Given the description of an element on the screen output the (x, y) to click on. 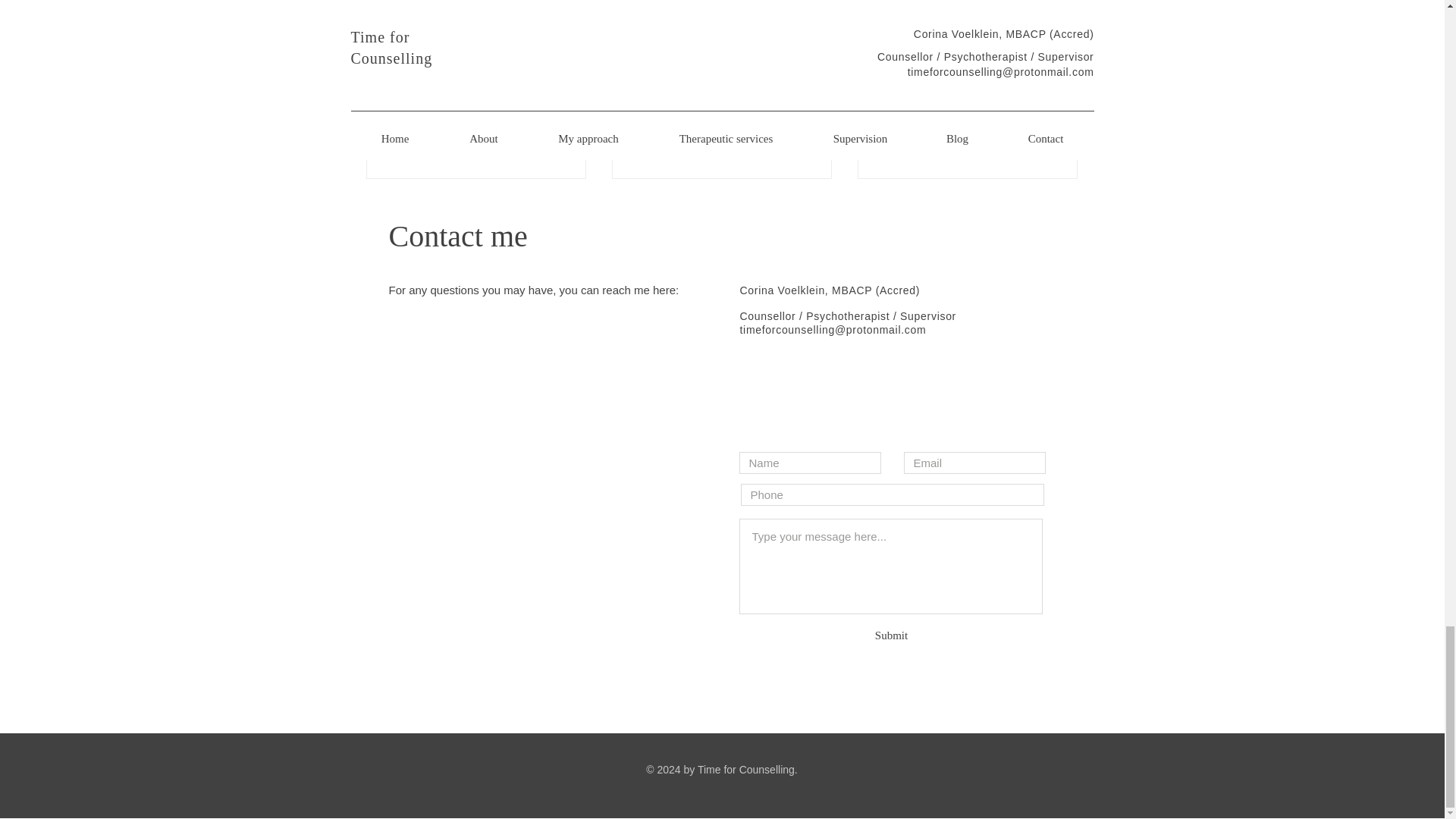
In defence of silence (721, 125)
Silence as kindness (476, 125)
Submit (890, 635)
